Given the description of an element on the screen output the (x, y) to click on. 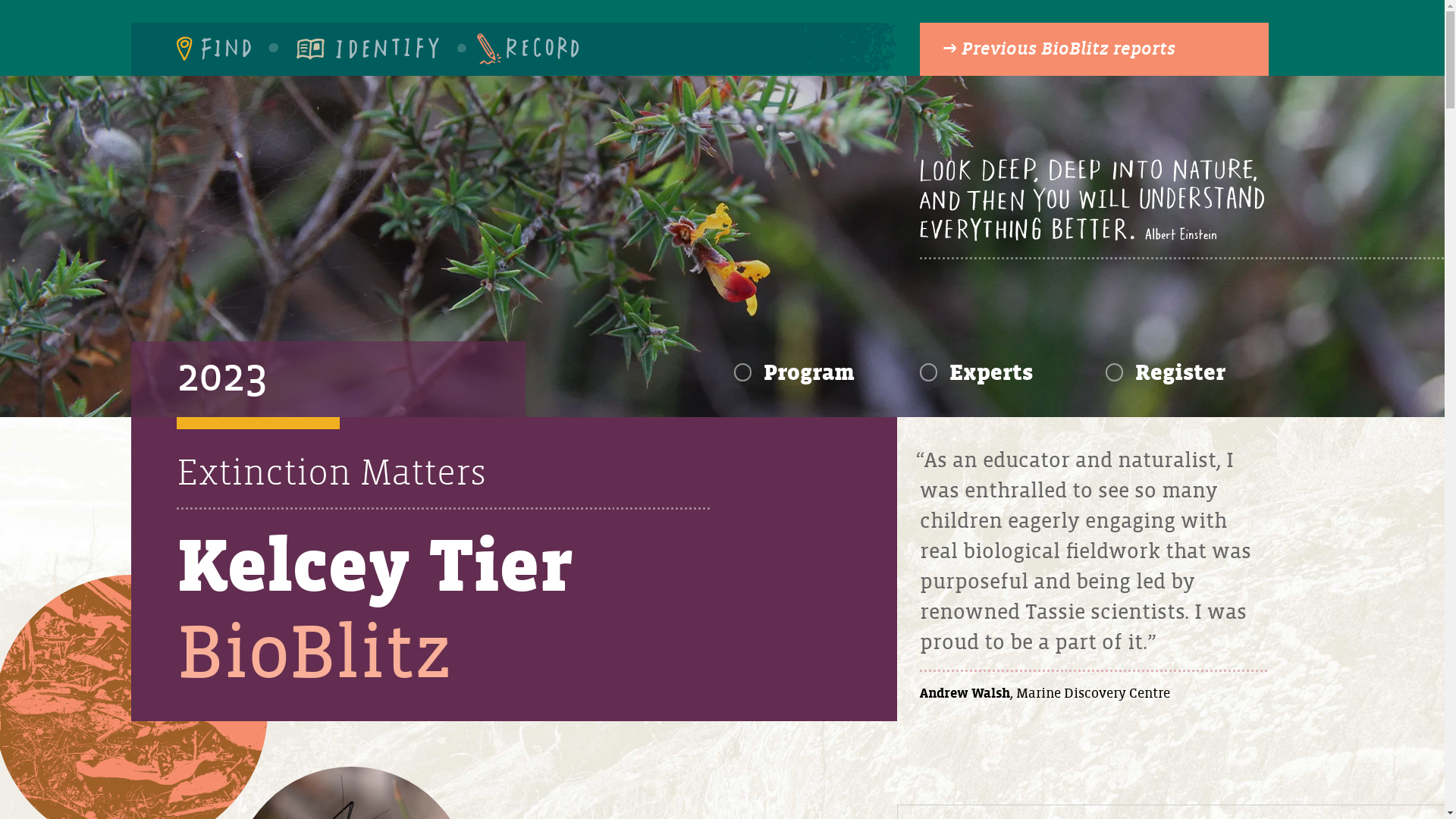
Program Element type: text (794, 372)
Previous BioBlitz reports Element type: text (1093, 48)
Register Element type: text (1165, 372)
Experts Element type: text (975, 372)
